Given the description of an element on the screen output the (x, y) to click on. 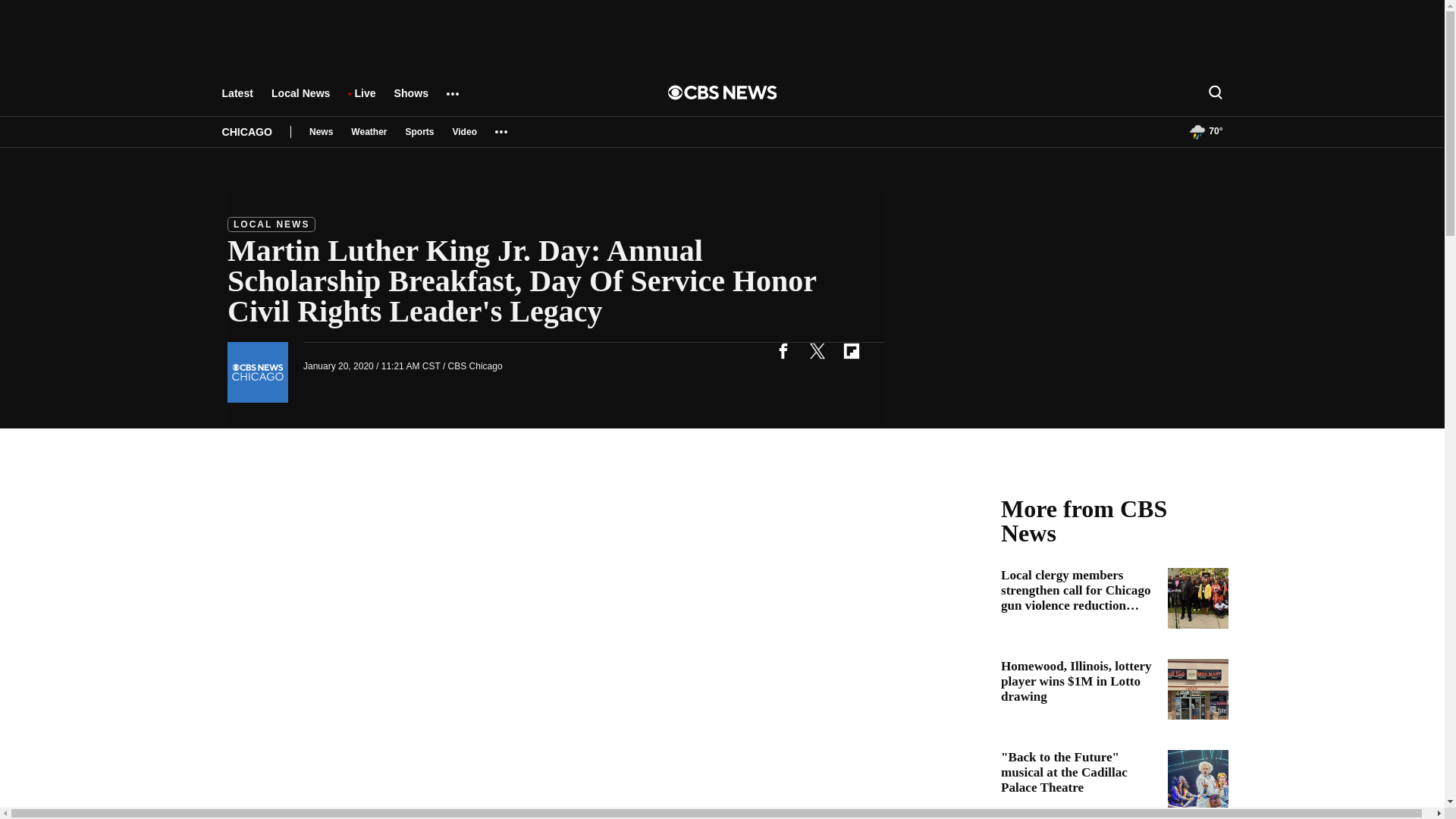
facebook (782, 350)
Local News (300, 100)
Latest (236, 100)
flipboard (850, 350)
twitter (816, 350)
